Given the description of an element on the screen output the (x, y) to click on. 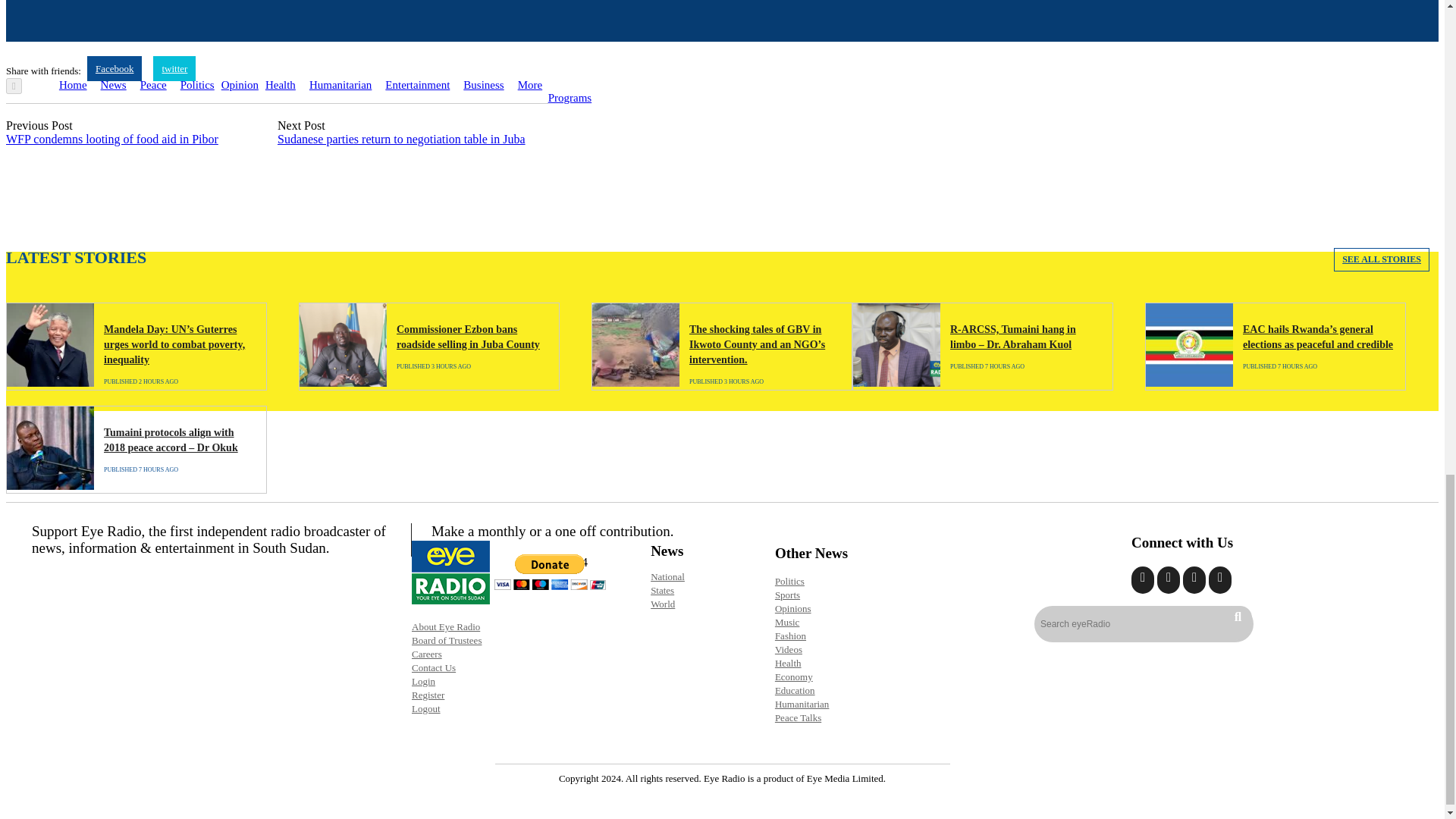
PayPal - The safer, easier way to pay online! (550, 571)
WFP condemns looting of food aid in Pibor (111, 138)
twitter (173, 68)
Facebook (114, 68)
Sudanese parties return to negotiation table in Juba (401, 138)
